Given the description of an element on the screen output the (x, y) to click on. 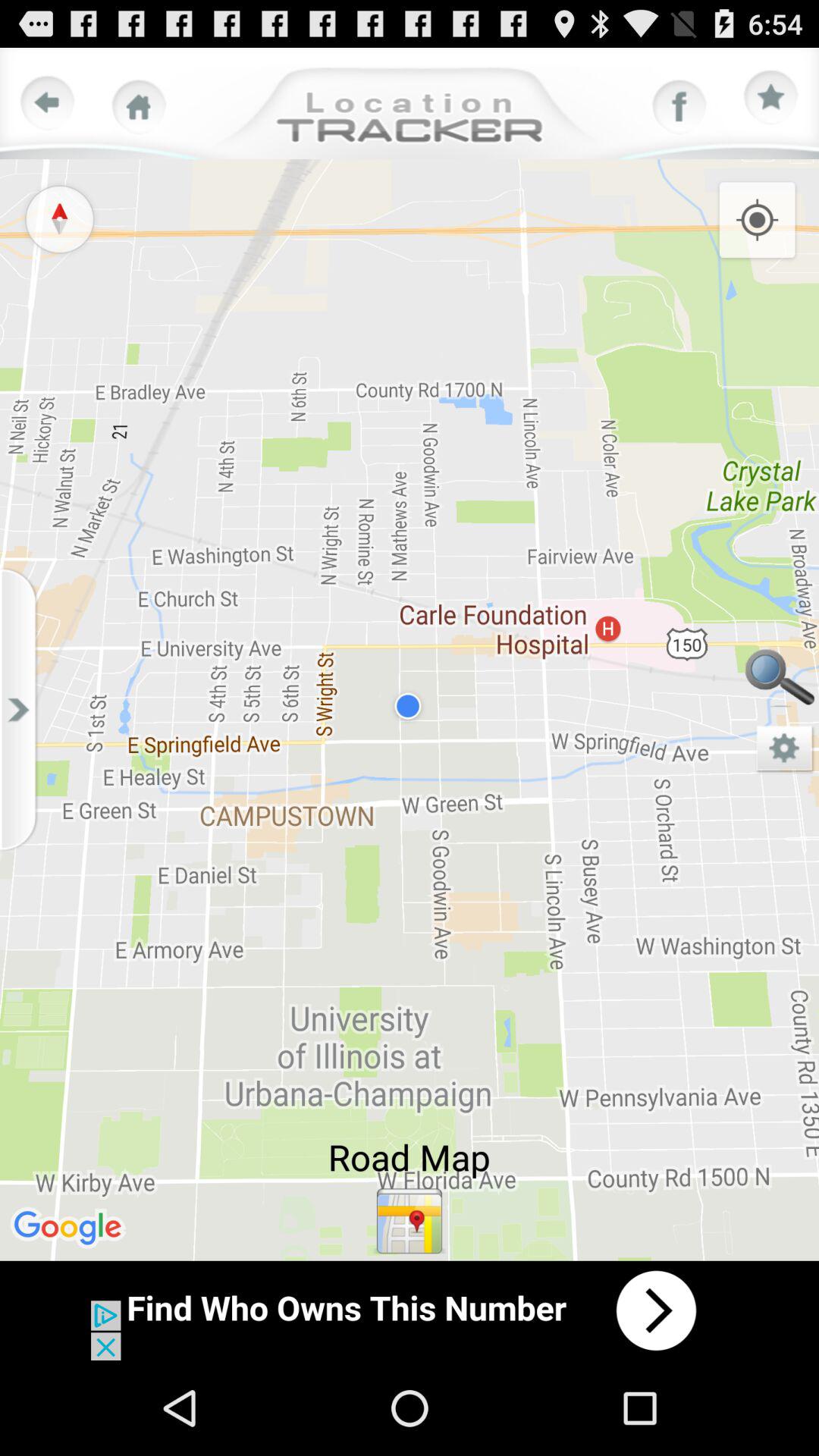
map page (785, 749)
